Given the description of an element on the screen output the (x, y) to click on. 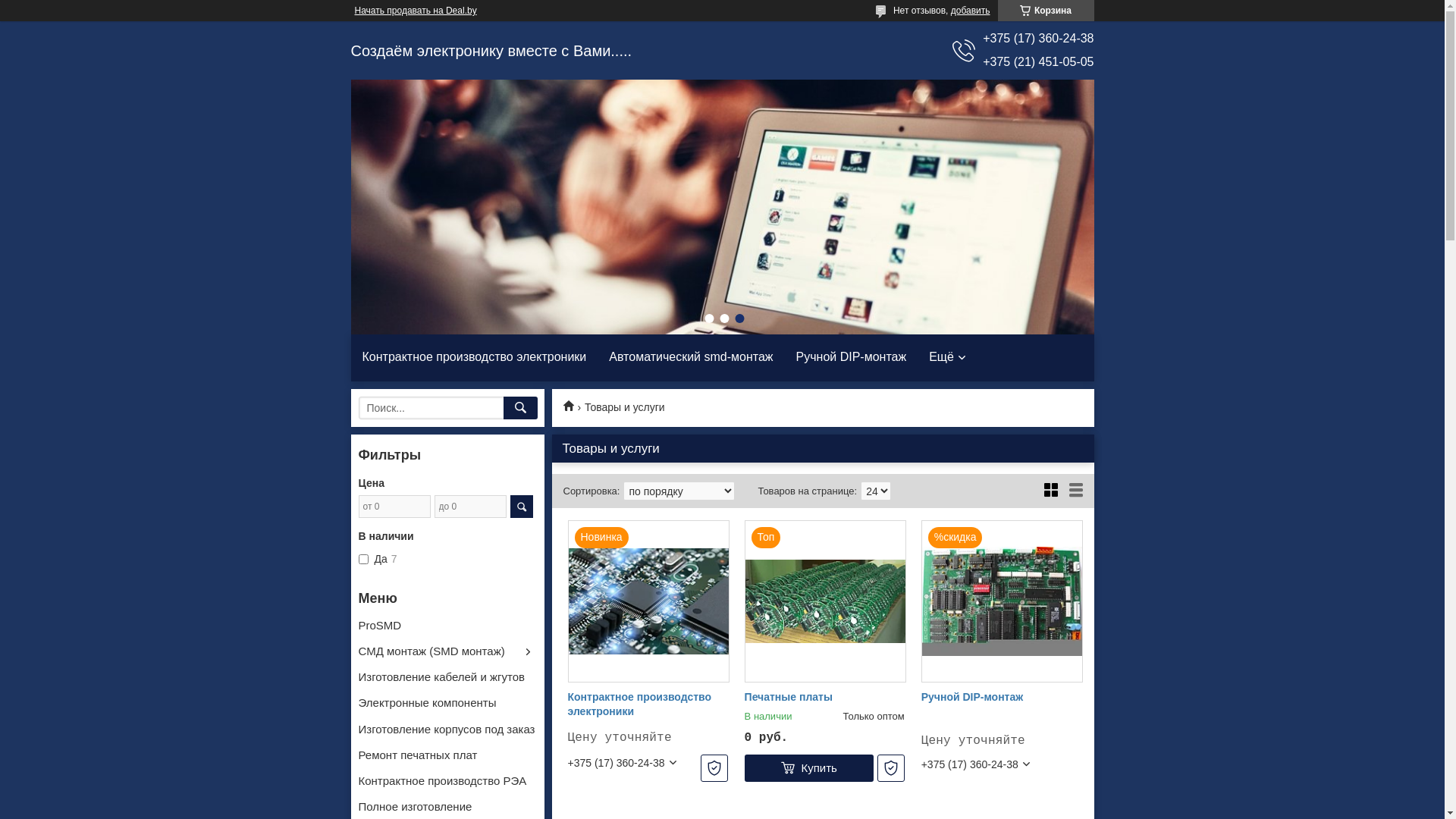
ProSMD Element type: text (379, 624)
